Given the description of an element on the screen output the (x, y) to click on. 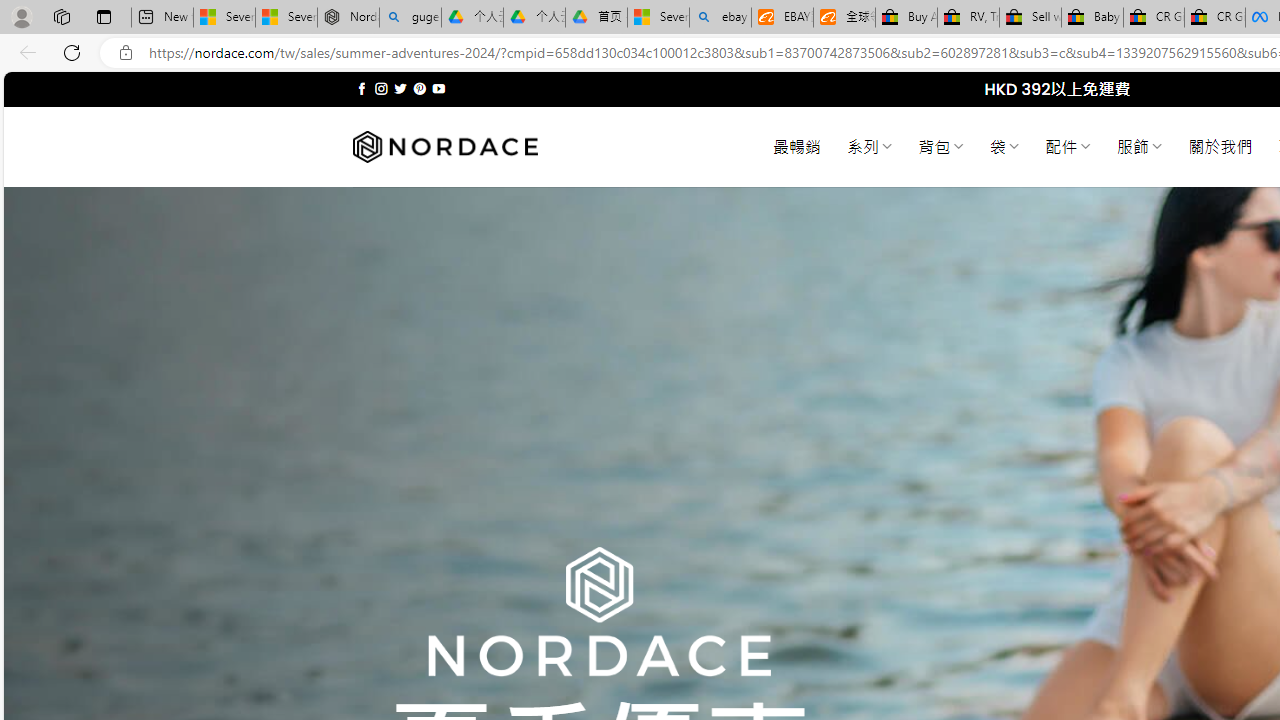
Follow on Twitter (400, 88)
Buy Auto Parts & Accessories | eBay (905, 17)
